Given the description of an element on the screen output the (x, y) to click on. 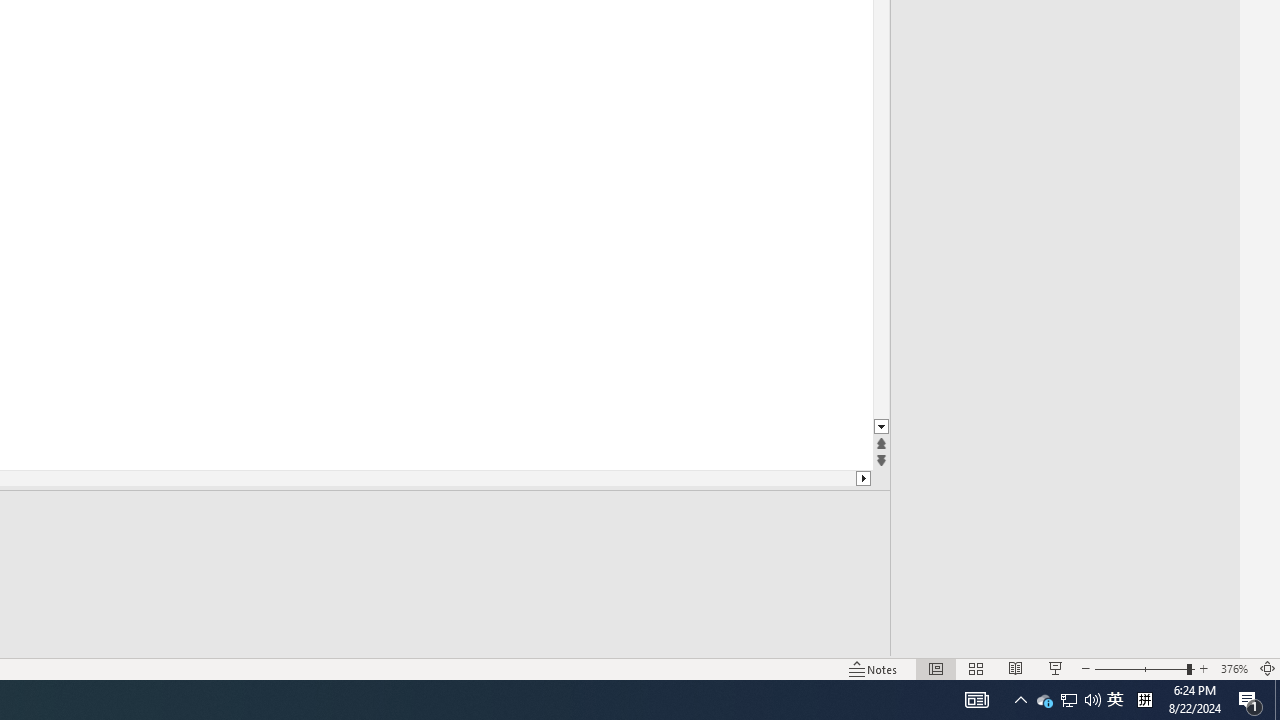
Zoom 376% (1234, 668)
